Given the description of an element on the screen output the (x, y) to click on. 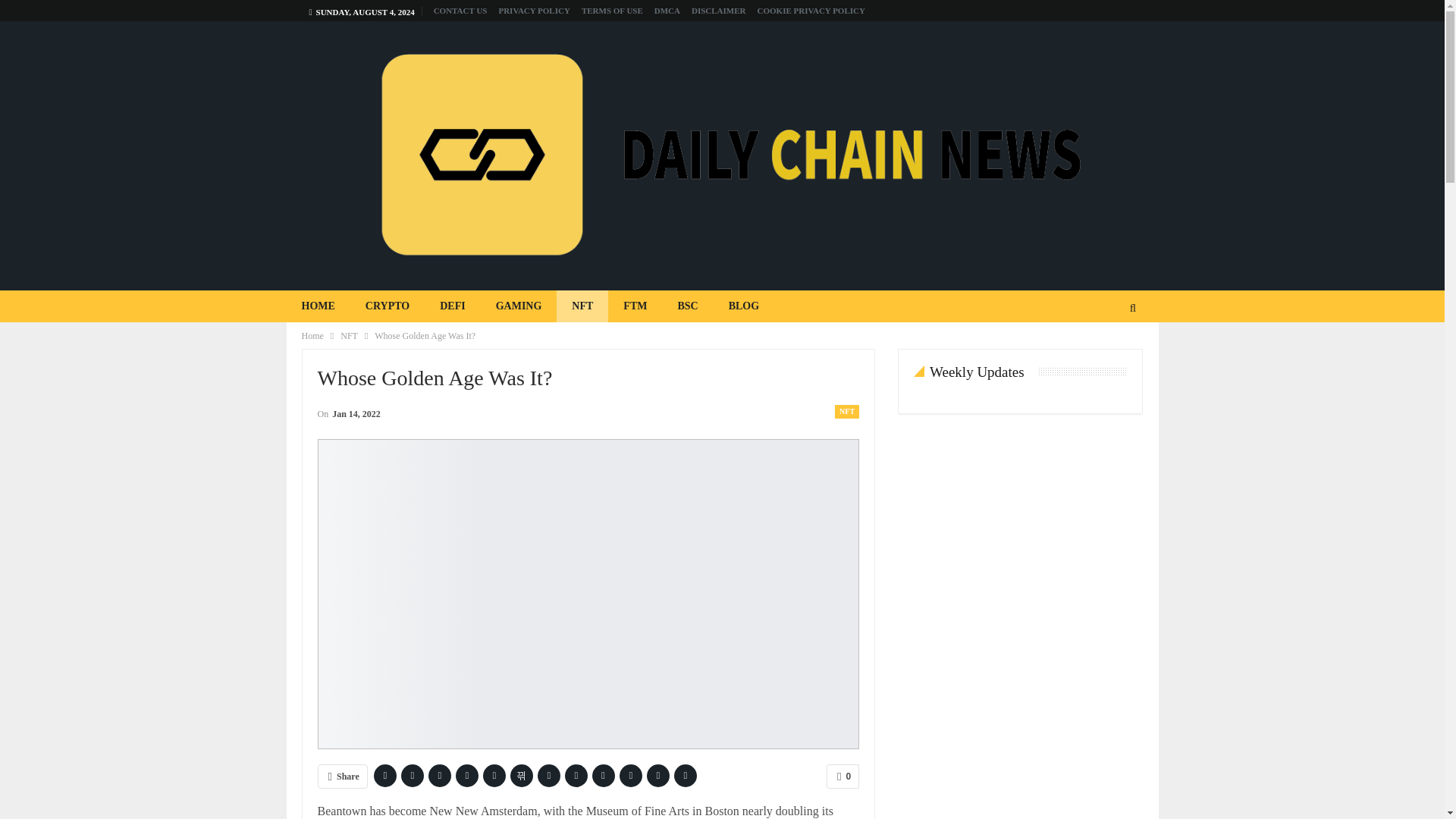
CONTACT US (460, 10)
NFT (846, 411)
BSC (687, 306)
HOME (318, 306)
CRYPTO (387, 306)
DISCLAIMER (718, 10)
BLOG (743, 306)
PRIVACY POLICY (533, 10)
COOKIE PRIVACY POLICY (810, 10)
DMCA (666, 10)
FTM (635, 306)
NFT (582, 306)
TERMS OF USE (611, 10)
Home (312, 335)
NFT (349, 335)
